Given the description of an element on the screen output the (x, y) to click on. 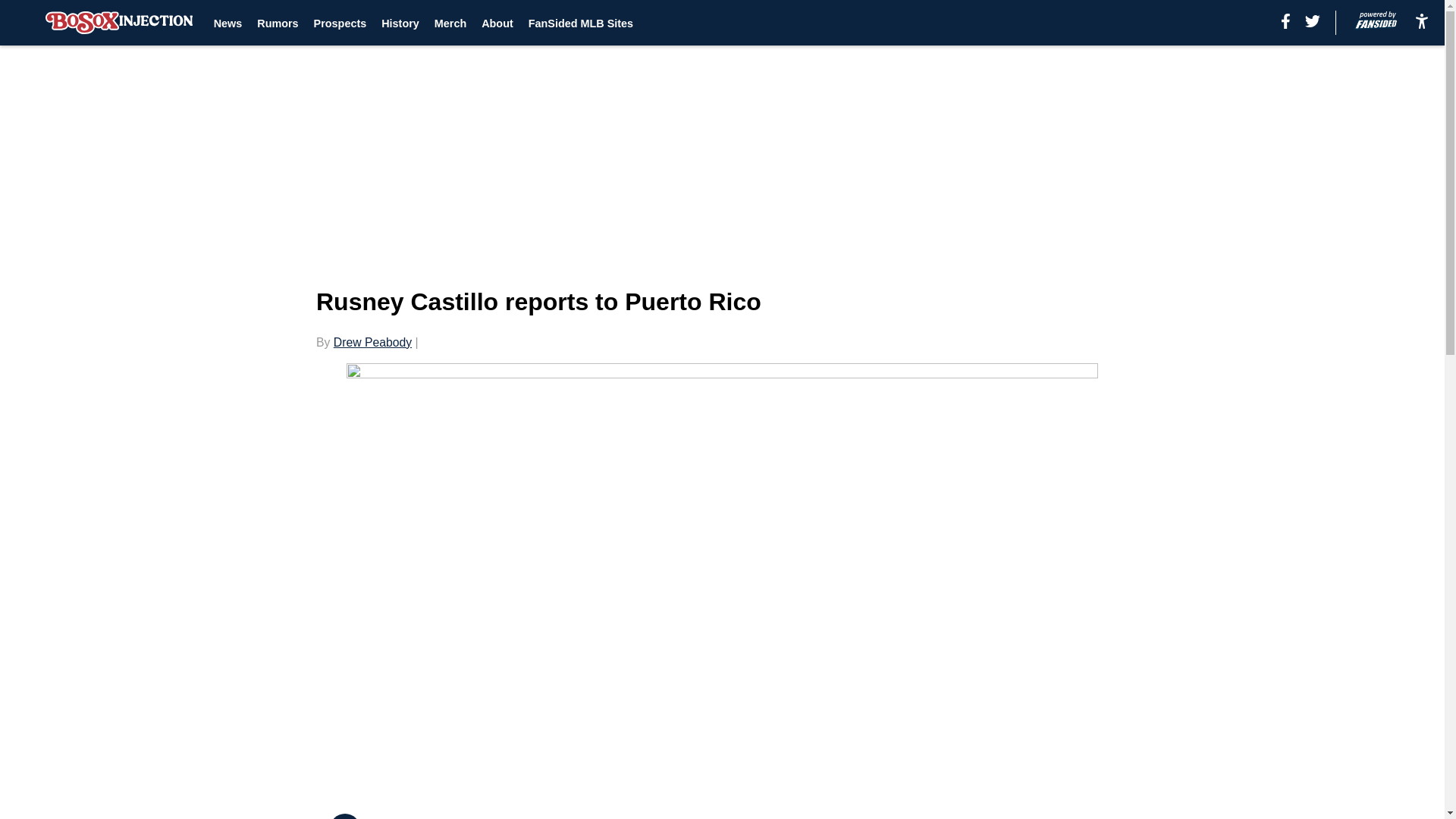
FanSided MLB Sites (580, 23)
Drew Peabody (372, 341)
Merch (449, 23)
History (400, 23)
Rumors (277, 23)
Prospects (340, 23)
About (497, 23)
News (228, 23)
